Given the description of an element on the screen output the (x, y) to click on. 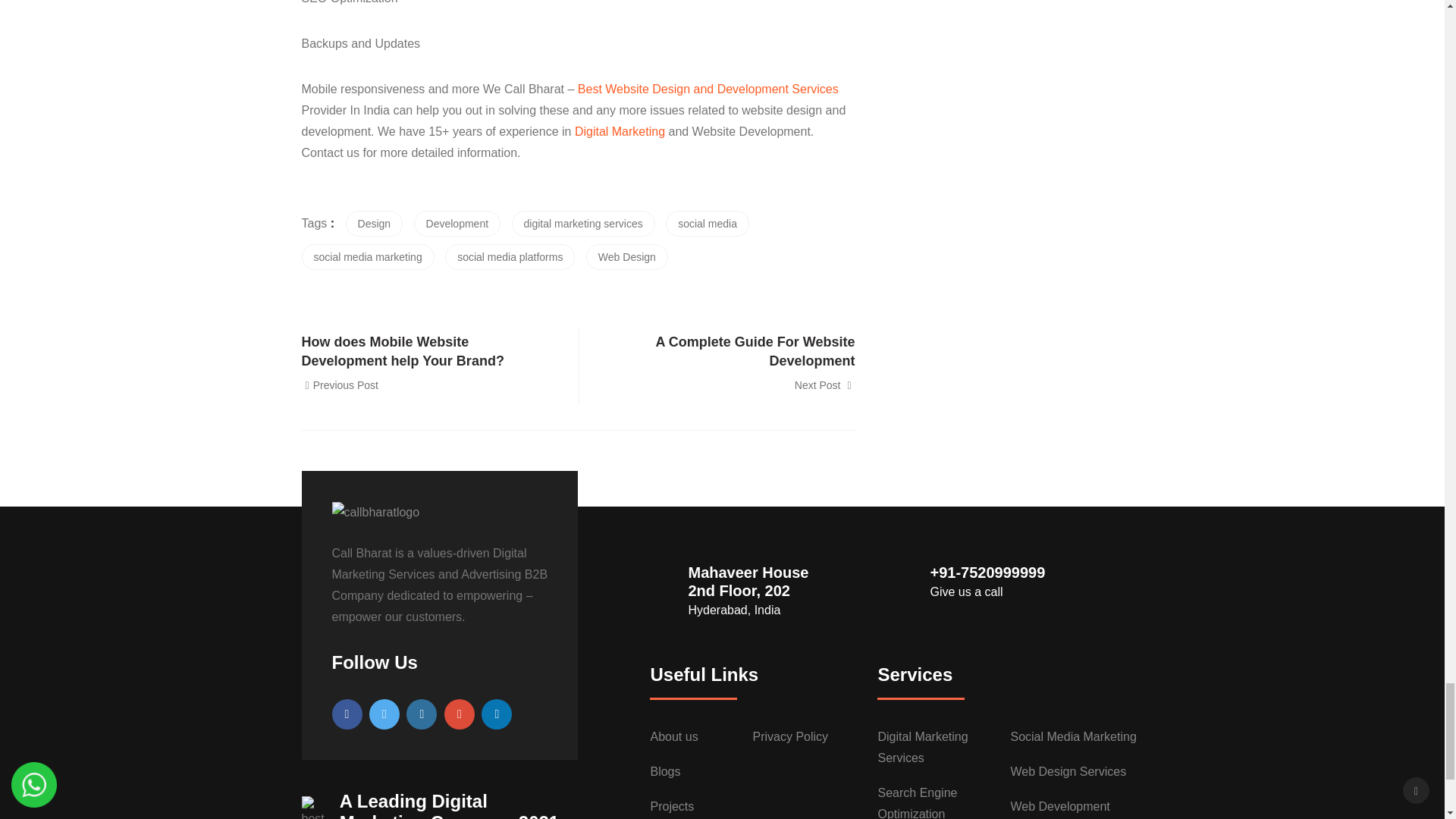
best (312, 807)
